Given the description of an element on the screen output the (x, y) to click on. 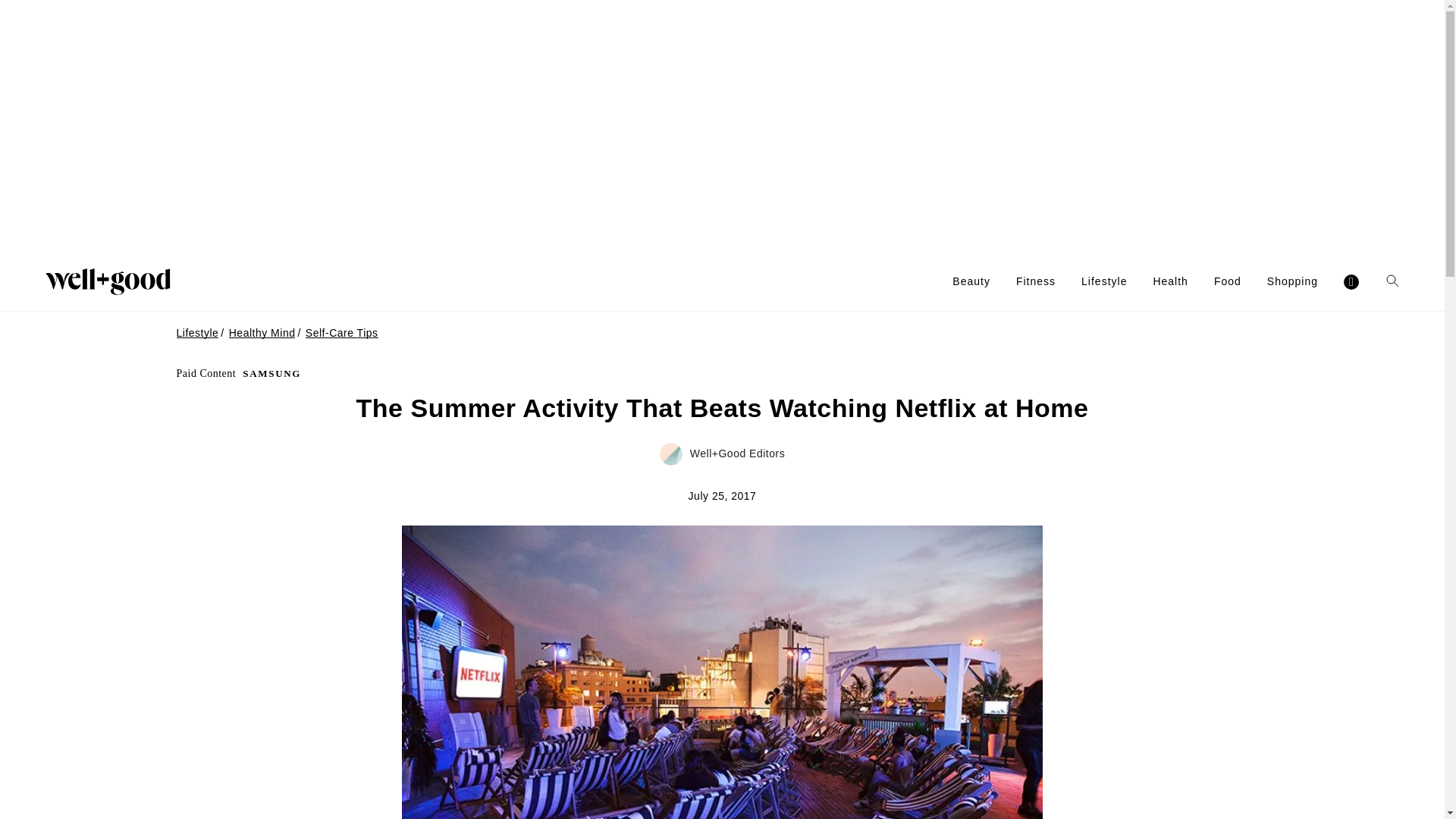
Beauty (971, 281)
Food (1227, 281)
Lifestyle (1103, 281)
Fitness (1035, 281)
Shopping (1291, 281)
Health (1170, 281)
